Given the description of an element on the screen output the (x, y) to click on. 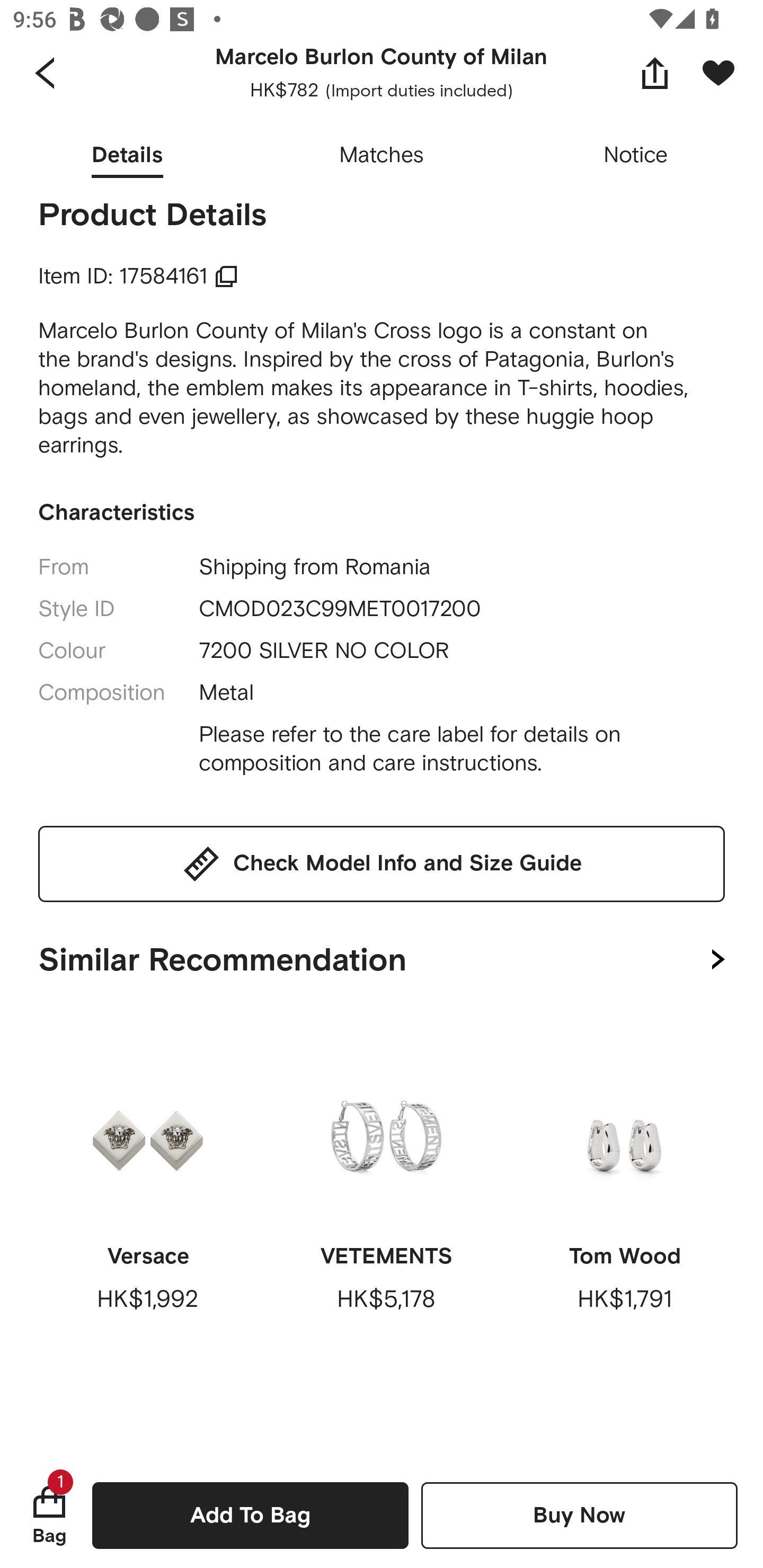
Browse FARFETCH Rankings (349, 93)
Matches (381, 155)
Notice (635, 155)
Item ID: 17584161 (138, 276)
 Check Model Info and Size Guide (381, 863)
Similar Recommendation (381, 955)
Versace HK$1,992 (147, 1205)
VETEMENTS HK$5,178 (385, 1205)
Tom Wood HK$1,791 (624, 1205)
Bag 1 (49, 1515)
Add To Bag (250, 1515)
Buy Now (579, 1515)
